Given the description of an element on the screen output the (x, y) to click on. 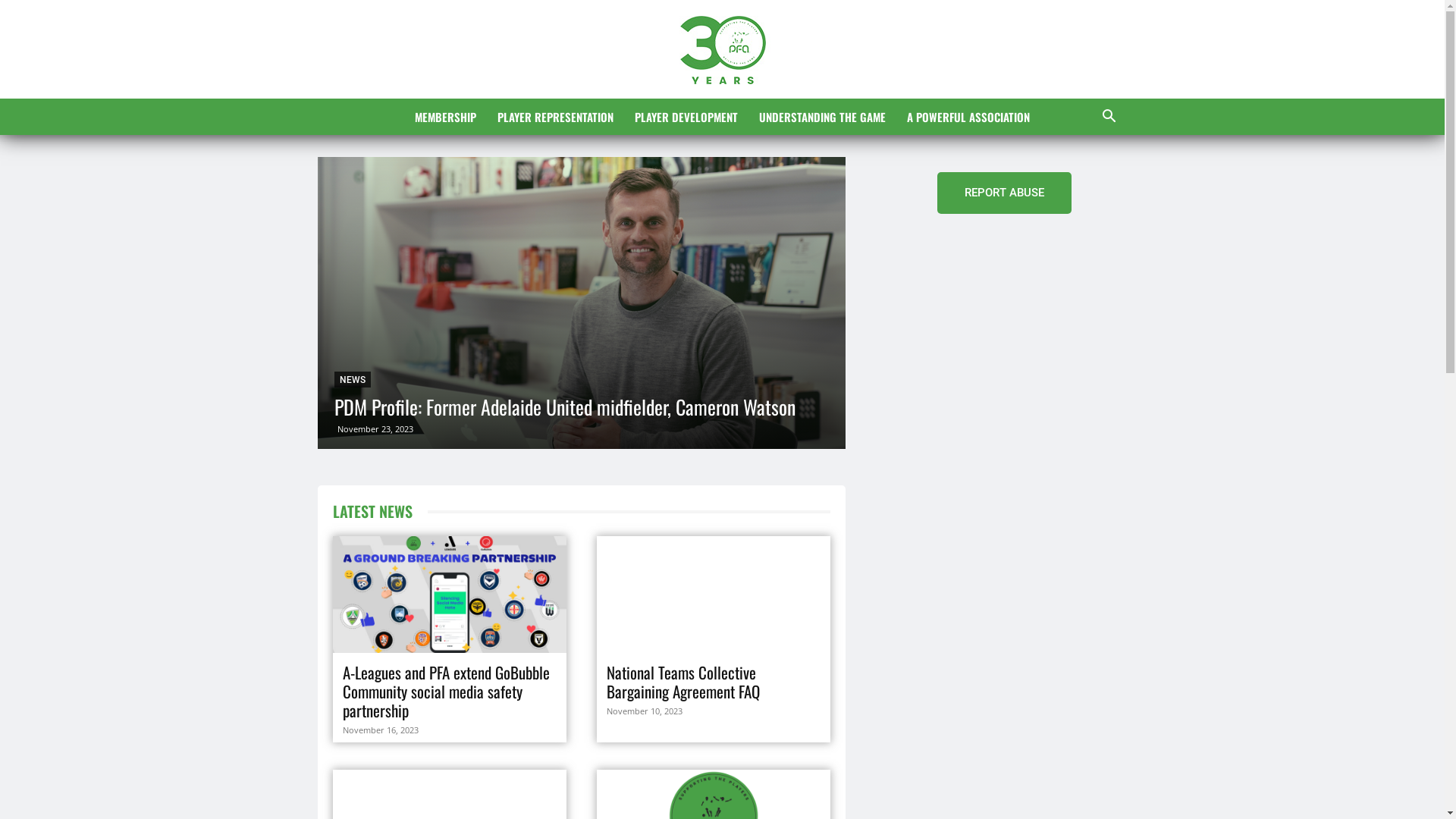
Professional Footballers Australia Element type: text (722, 49)
National Teams Collective Bargaining Agreement FAQ  Element type: text (684, 681)
UNDERSTANDING THE GAME Element type: text (822, 116)
PLAYER REPRESENTATION Element type: text (555, 116)
A POWERFUL ASSOCIATION Element type: text (968, 116)
Search Element type: text (1085, 177)
NEWS Element type: text (351, 379)
REPORT ABUSE Element type: text (1004, 192)
MEMBERSHIP Element type: text (445, 116)
PLAYER DEVELOPMENT Element type: text (686, 116)
